Given the description of an element on the screen output the (x, y) to click on. 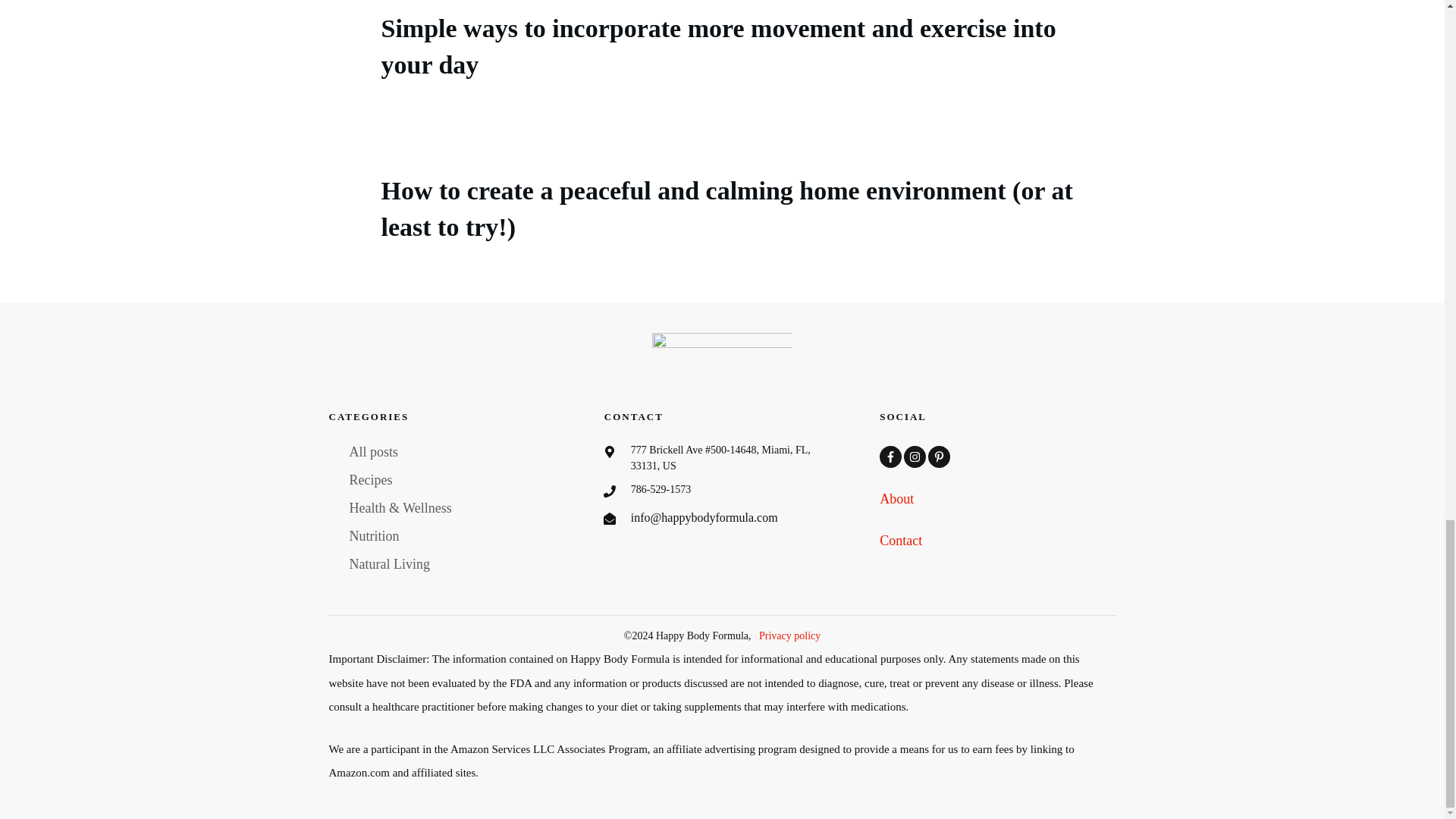
All posts (373, 452)
Recipes (370, 479)
Natural Living (389, 564)
Contact (900, 540)
Nutrition (373, 536)
About (896, 498)
Privacy policy (789, 635)
